Given the description of an element on the screen output the (x, y) to click on. 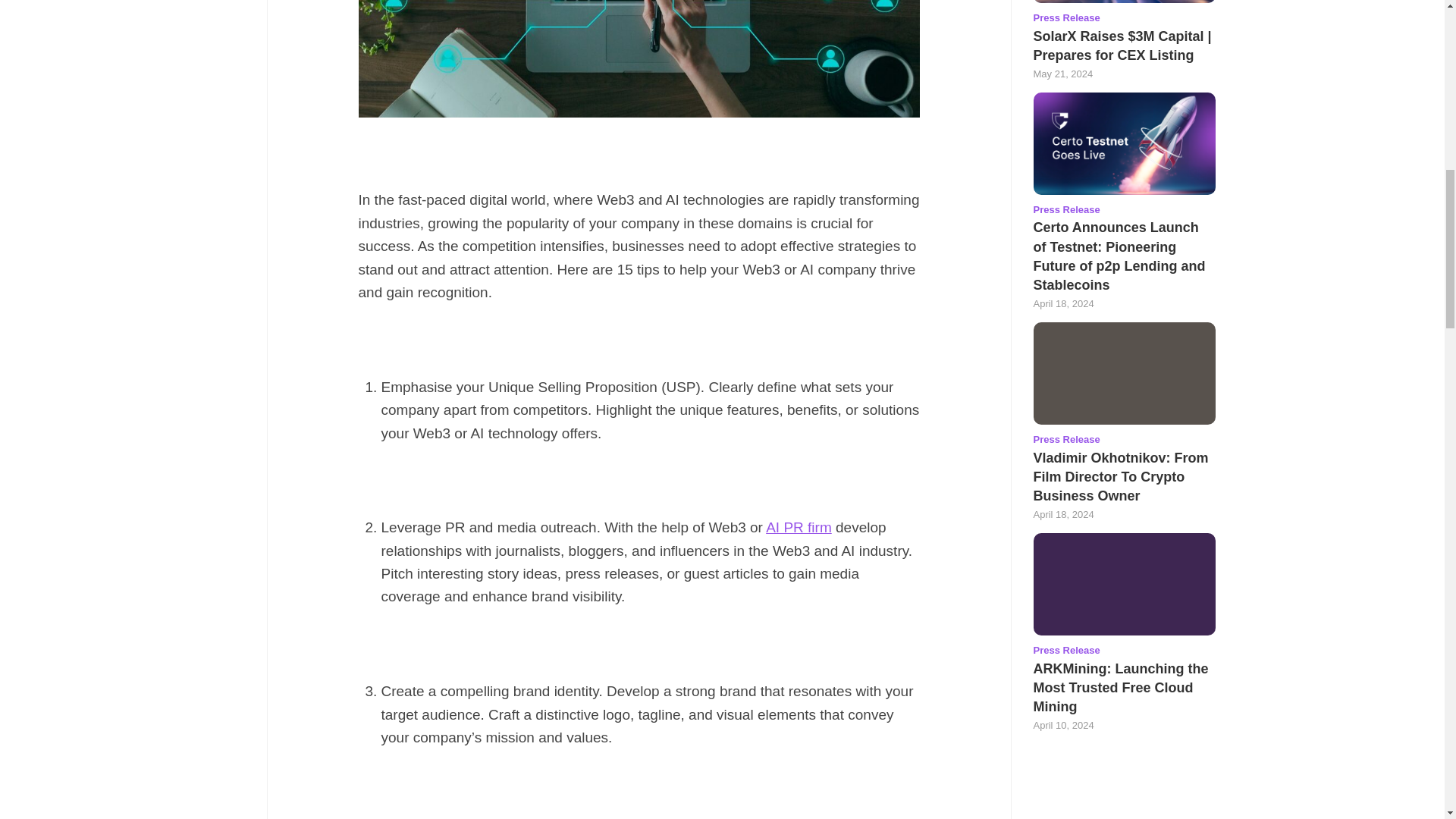
AI PR firm (798, 527)
How To Grow Popularity Of Your Web3 Or AI Company? 1 (638, 58)
